Given the description of an element on the screen output the (x, y) to click on. 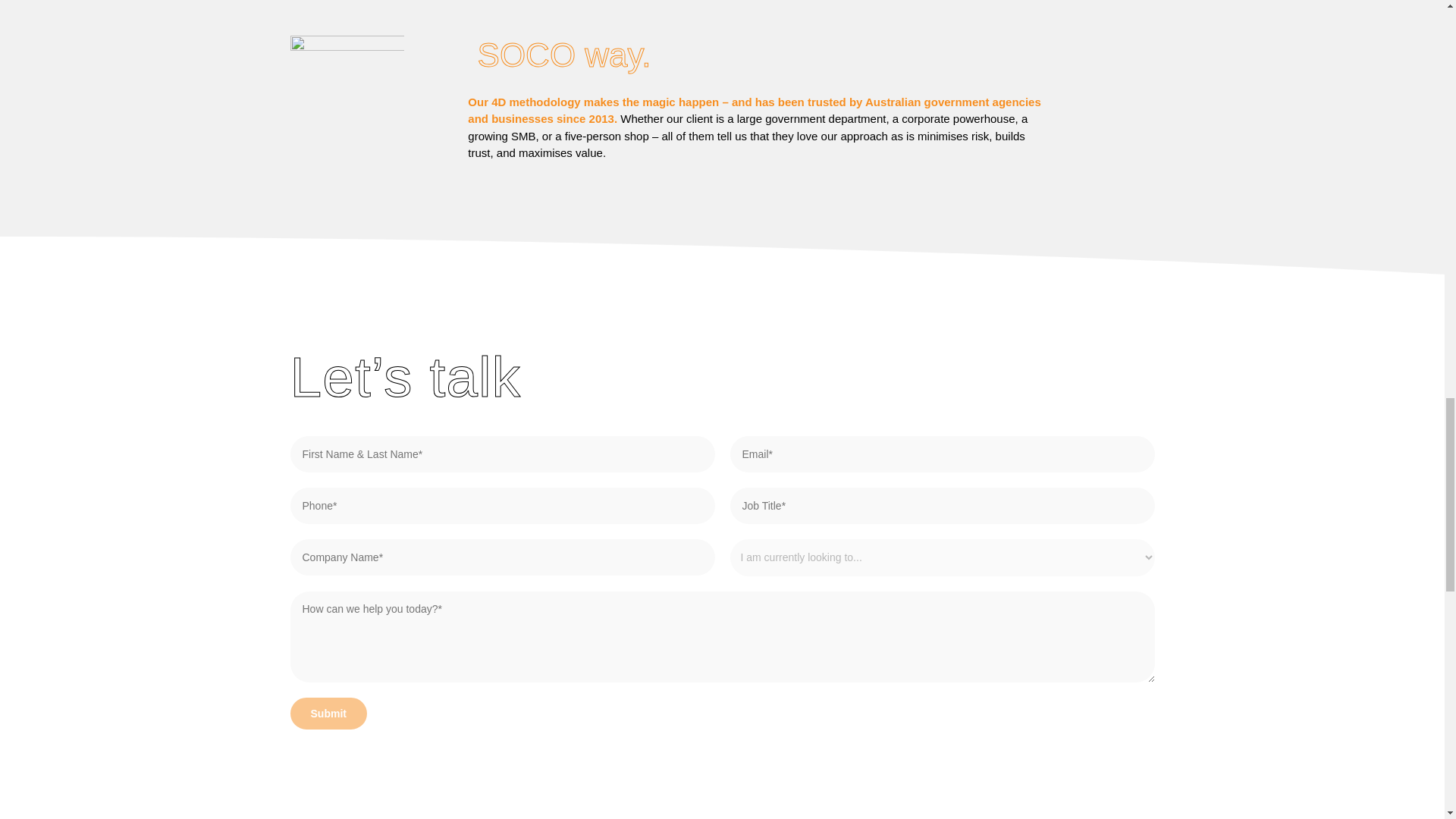
race-track-icon-orange-trim (346, 83)
